Given the description of an element on the screen output the (x, y) to click on. 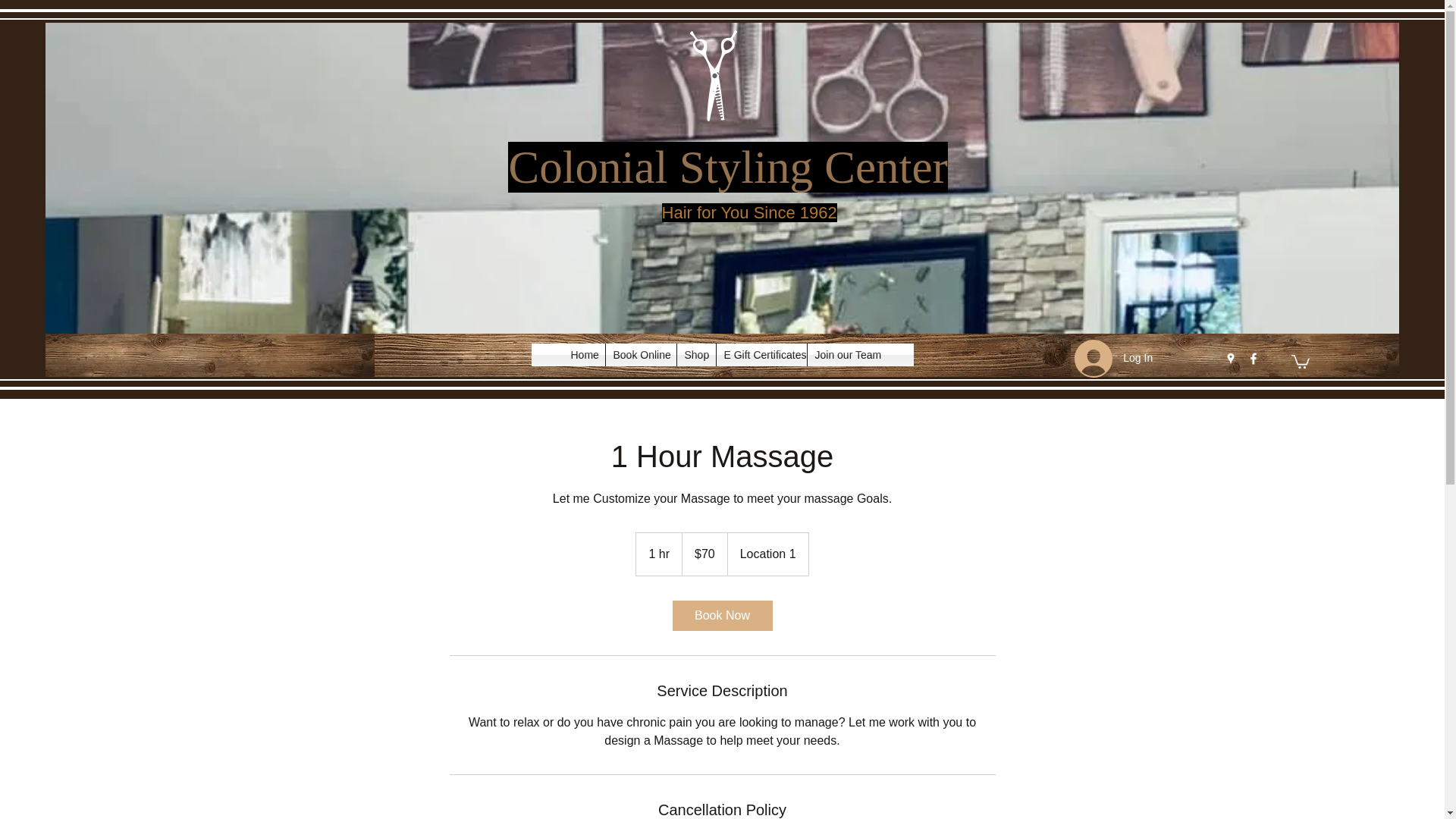
E Gift Certificates (761, 354)
Log In (1106, 358)
Join our Team (843, 354)
Colonial Styling Center (727, 166)
Shop (695, 354)
Book Now (721, 615)
Home (583, 354)
Book Online (640, 354)
